Given the description of an element on the screen output the (x, y) to click on. 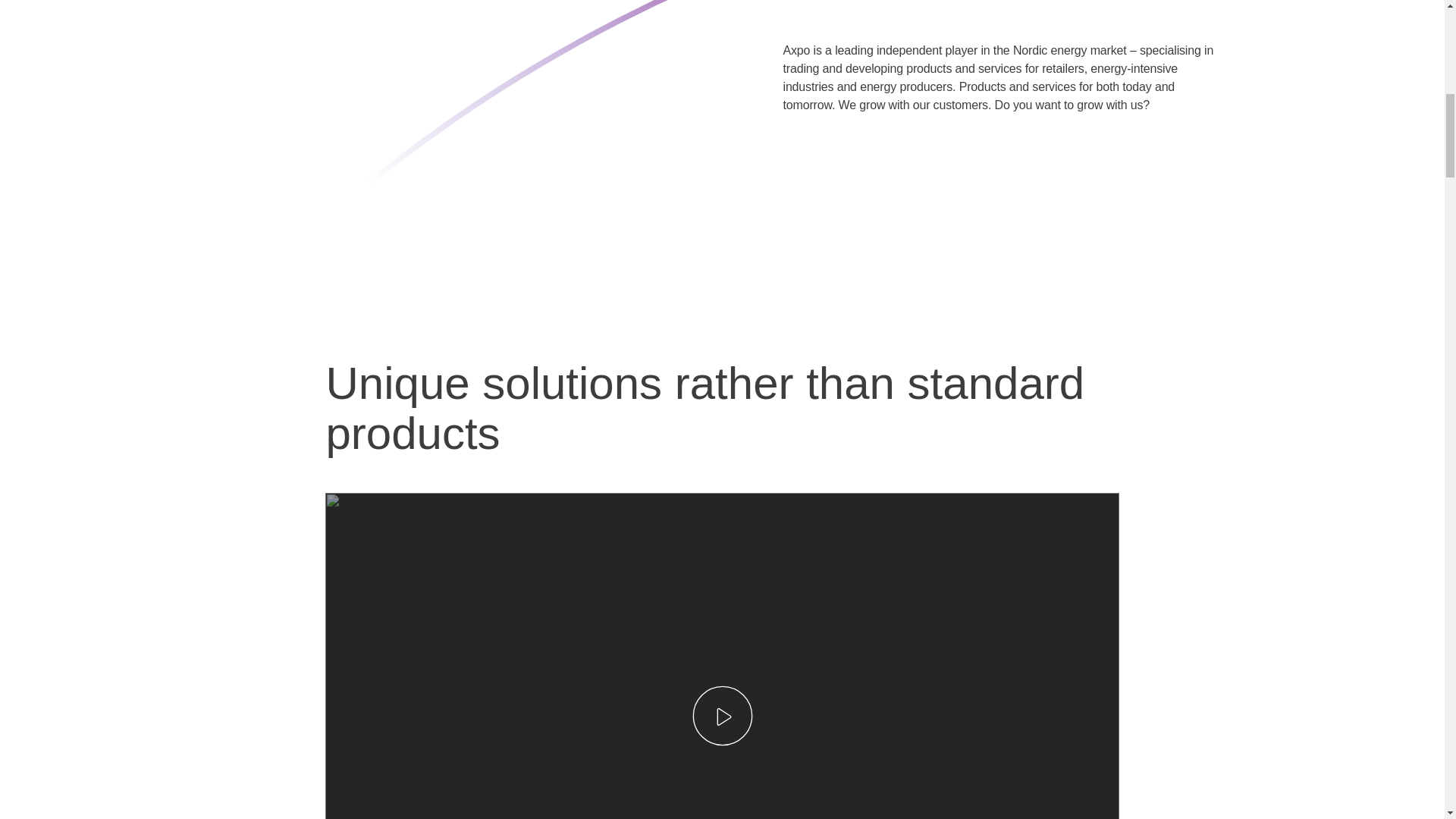
Play (722, 715)
